Given the description of an element on the screen output the (x, y) to click on. 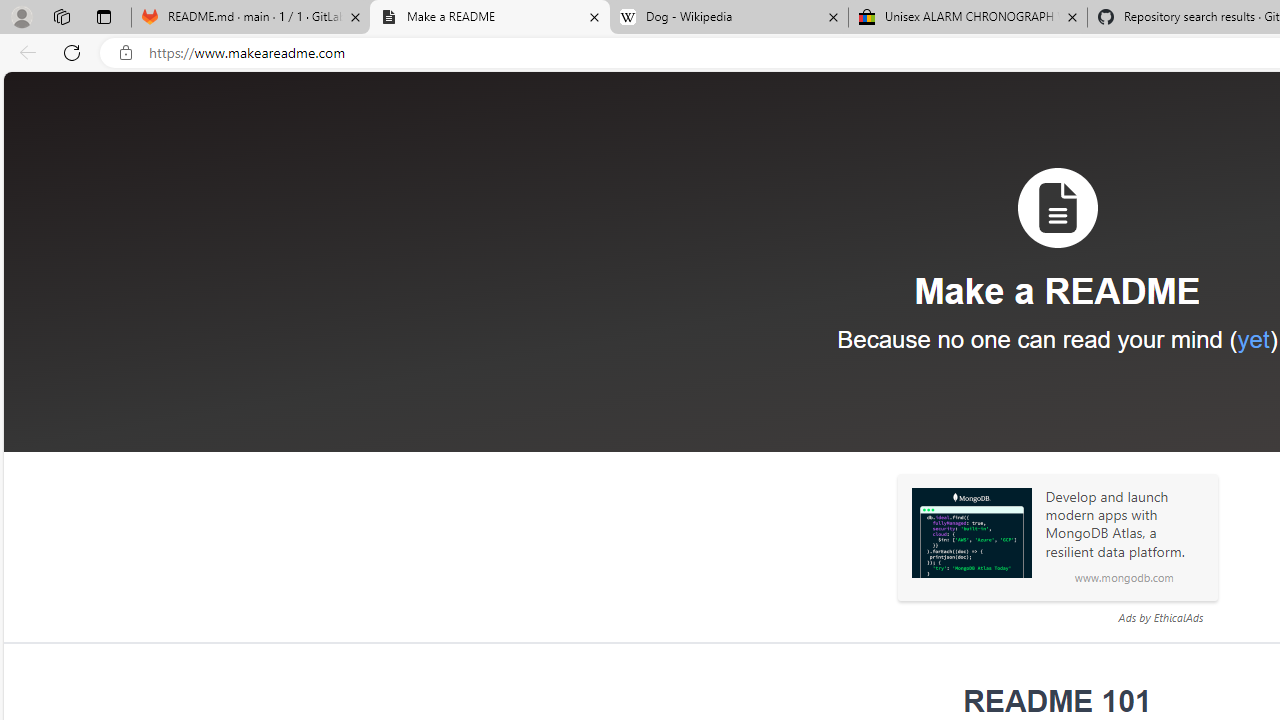
Make a README (490, 17)
Dog - Wikipedia (729, 17)
Ads by EthicalAds (1160, 617)
Sponsored: MongoDB (971, 533)
Sponsored: MongoDB (971, 533)
yet (1252, 339)
